Given the description of an element on the screen output the (x, y) to click on. 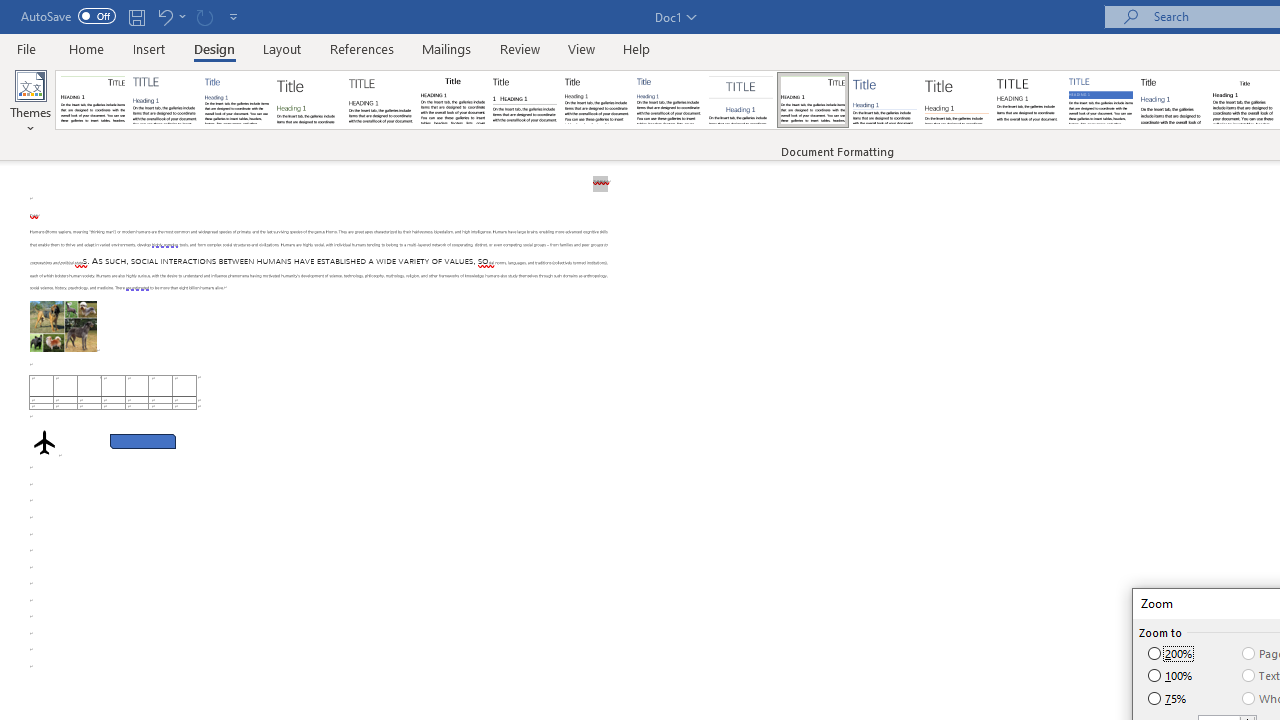
Airplane with solid fill (43, 442)
Rectangle: Diagonal Corners Snipped 2 (143, 441)
Black & White (Numbered) (524, 100)
Themes (30, 102)
Basic (Elegant) (164, 100)
Shaded (1100, 100)
Can't Repeat (204, 15)
Basic (Stylish) (308, 100)
